Given the description of an element on the screen output the (x, y) to click on. 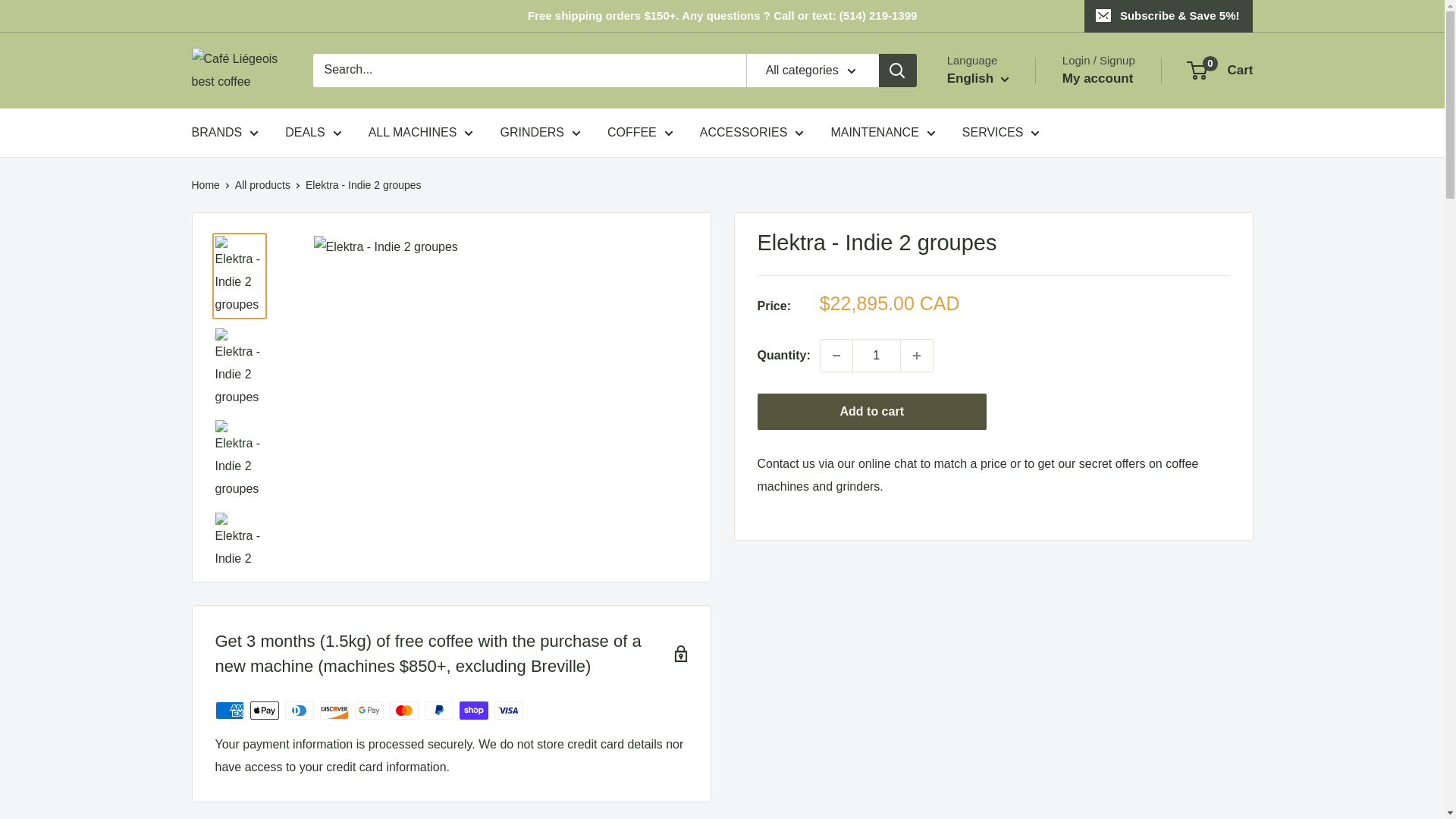
Decrease quantity by 1 (836, 355)
1 (876, 355)
Increase quantity by 1 (917, 355)
